Given the description of an element on the screen output the (x, y) to click on. 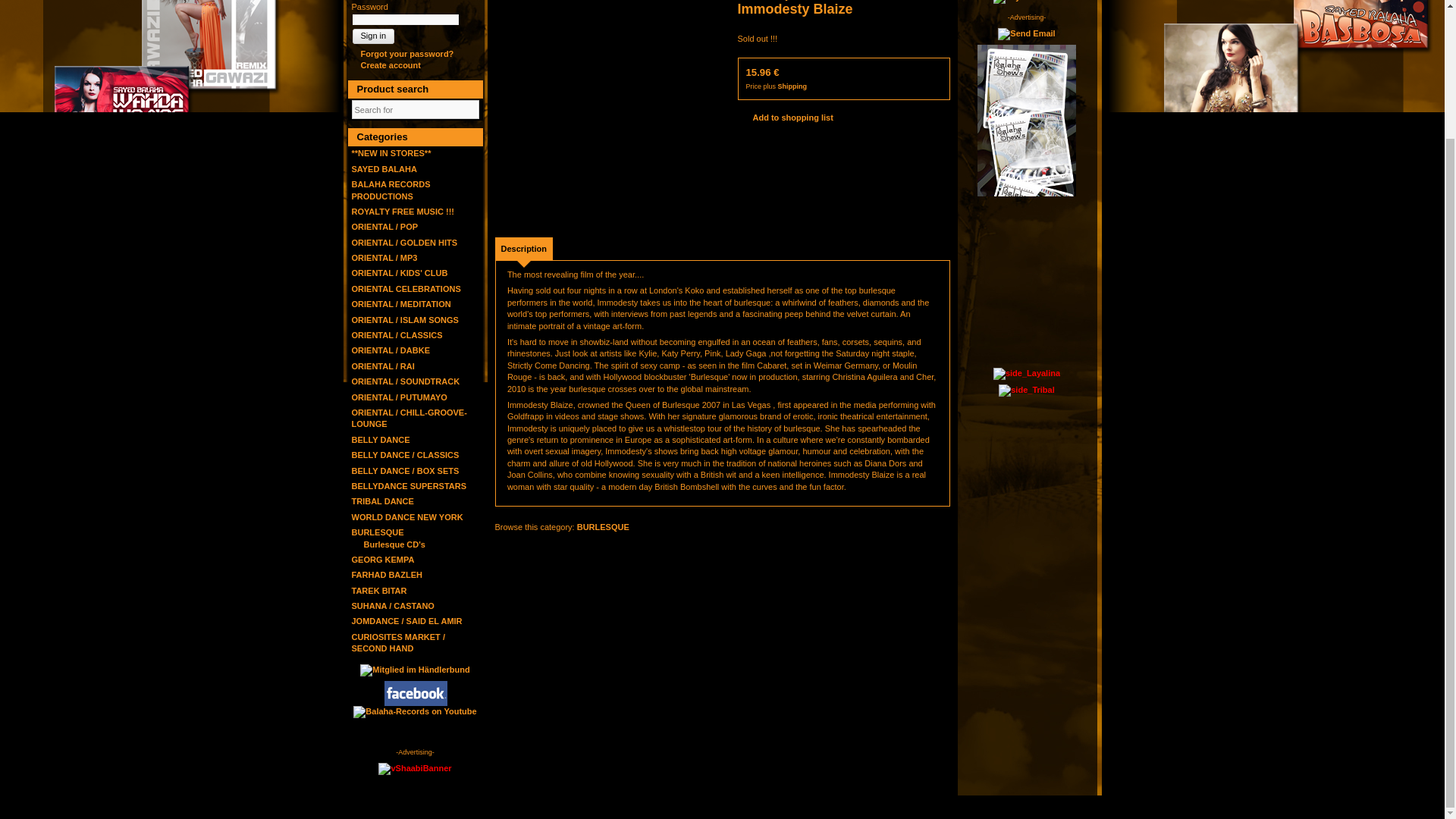
BELLYDANCE SUPERSTARS (409, 485)
BELLY DANCE (381, 439)
Start search (465, 109)
Forgot your password? (403, 53)
BALAHA RECORDS PRODUCTIONS (391, 189)
SAYED BALAHA (384, 168)
BURLESQUE (378, 532)
Categories (414, 136)
PayPal PLUS (1024, 2)
vShaabiBanner (414, 768)
